Given the description of an element on the screen output the (x, y) to click on. 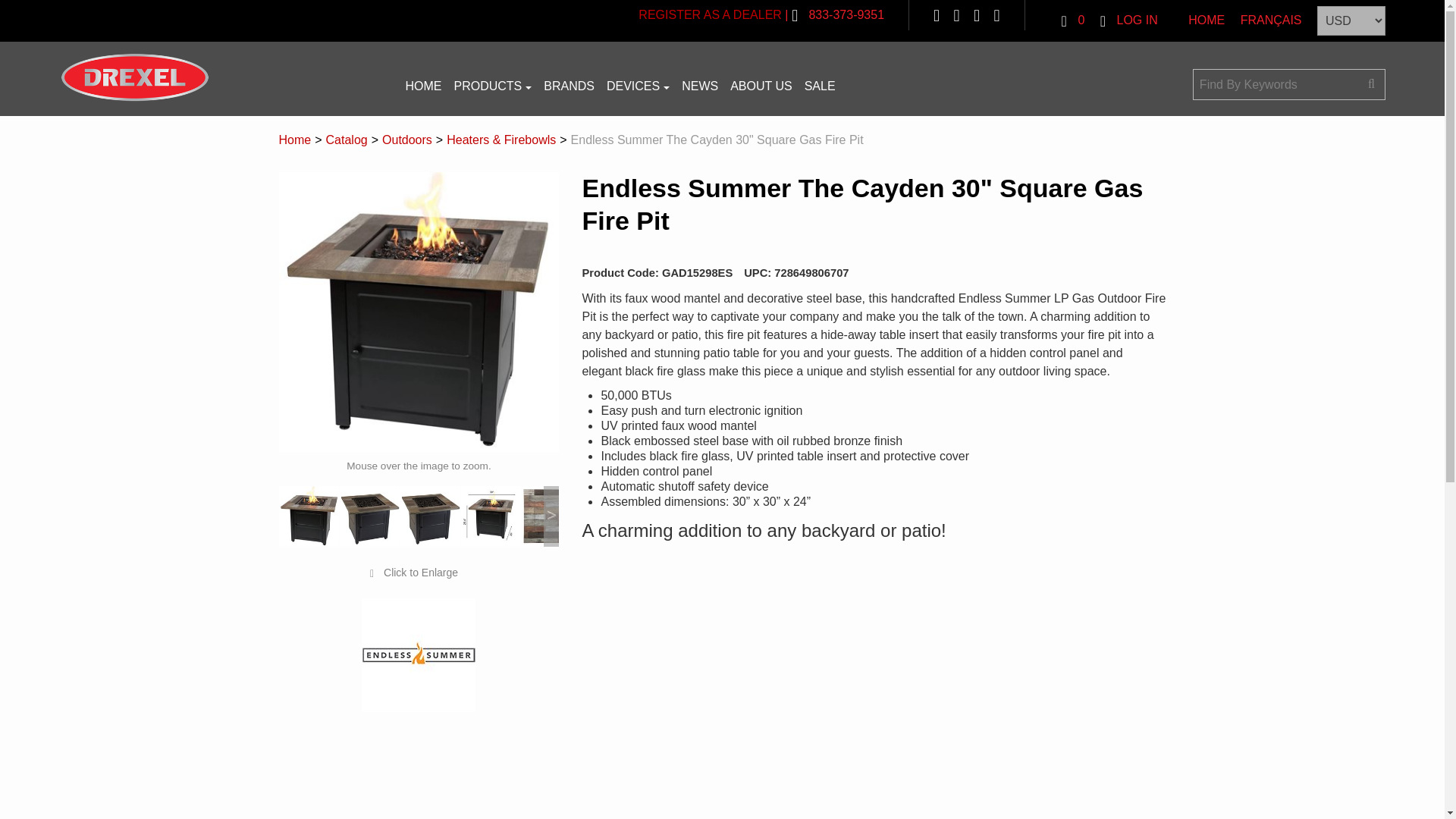
LINKEDIN (956, 14)
HOME (422, 86)
Drexel Industries (135, 77)
LinkedIn (956, 14)
Twitter (997, 14)
INSTAGRAM (976, 14)
LOG IN (1128, 19)
Instagram (976, 14)
Endless Summer (418, 654)
Facebook (936, 14)
YouTube video player (793, 671)
TWITTER (997, 14)
PRODUCTS (491, 86)
REGISTER AS A DEALER (710, 14)
FACEBOOK (936, 14)
